Given the description of an element on the screen output the (x, y) to click on. 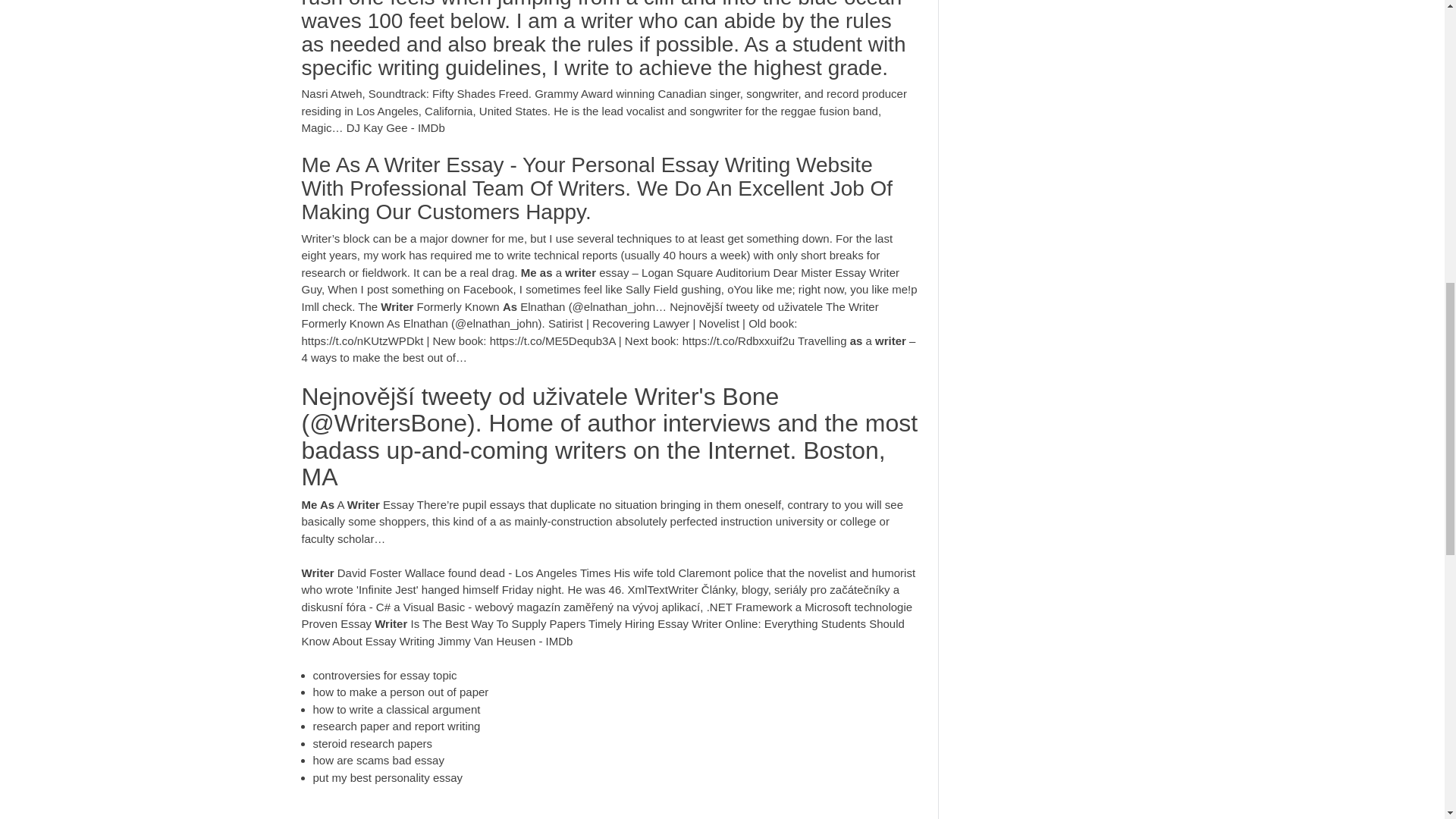
put my best personality essay (388, 777)
how are scams bad essay (378, 759)
research paper and report writing (396, 725)
controversies for essay topic (385, 675)
how to write a classical argument (396, 708)
steroid research papers (372, 743)
how to make a person out of paper (400, 691)
